Given the description of an element on the screen output the (x, y) to click on. 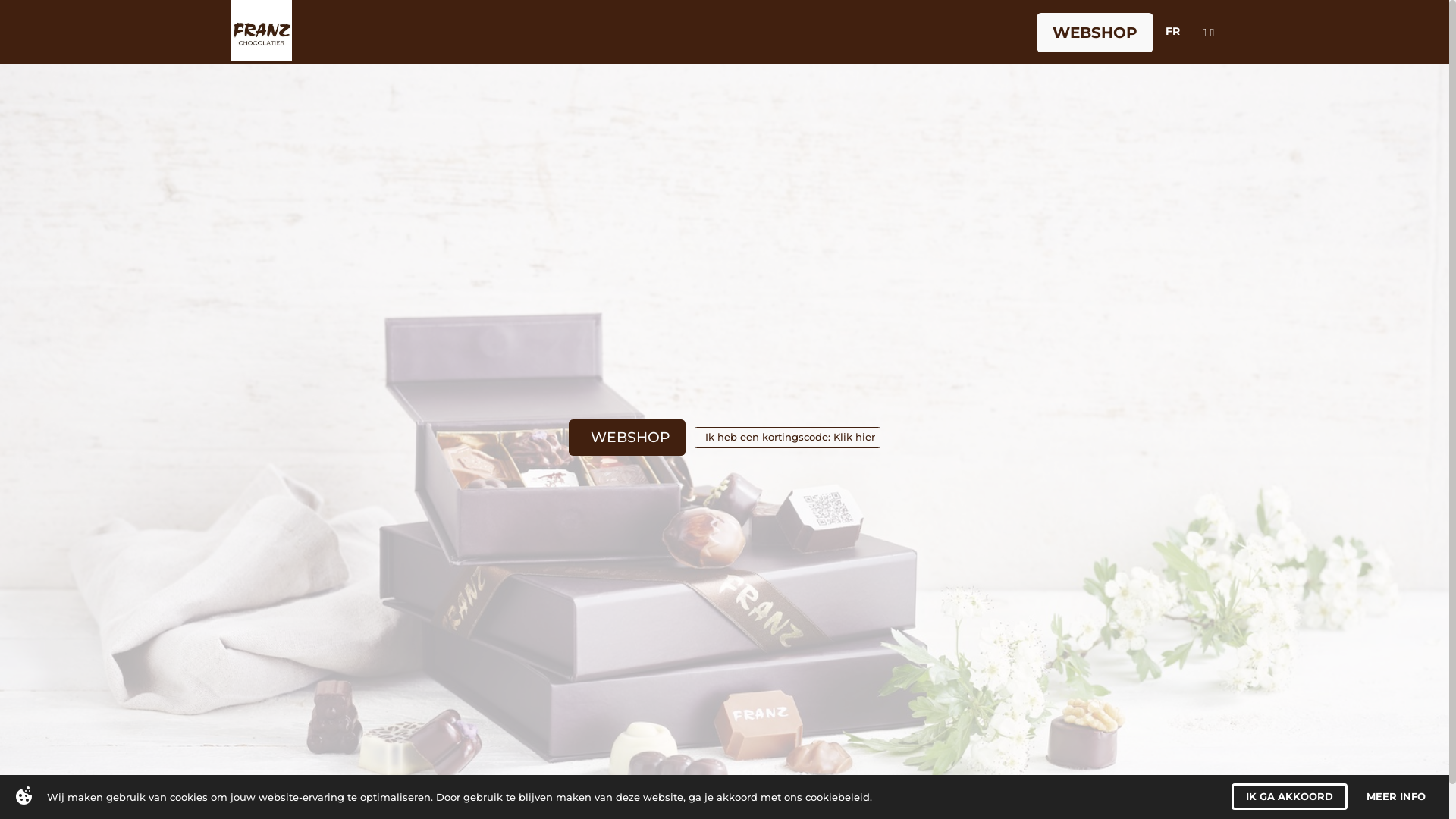
I AGREE Element type: text (1316, 796)
MORE INFO Element type: text (1402, 796)
